Given the description of an element on the screen output the (x, y) to click on. 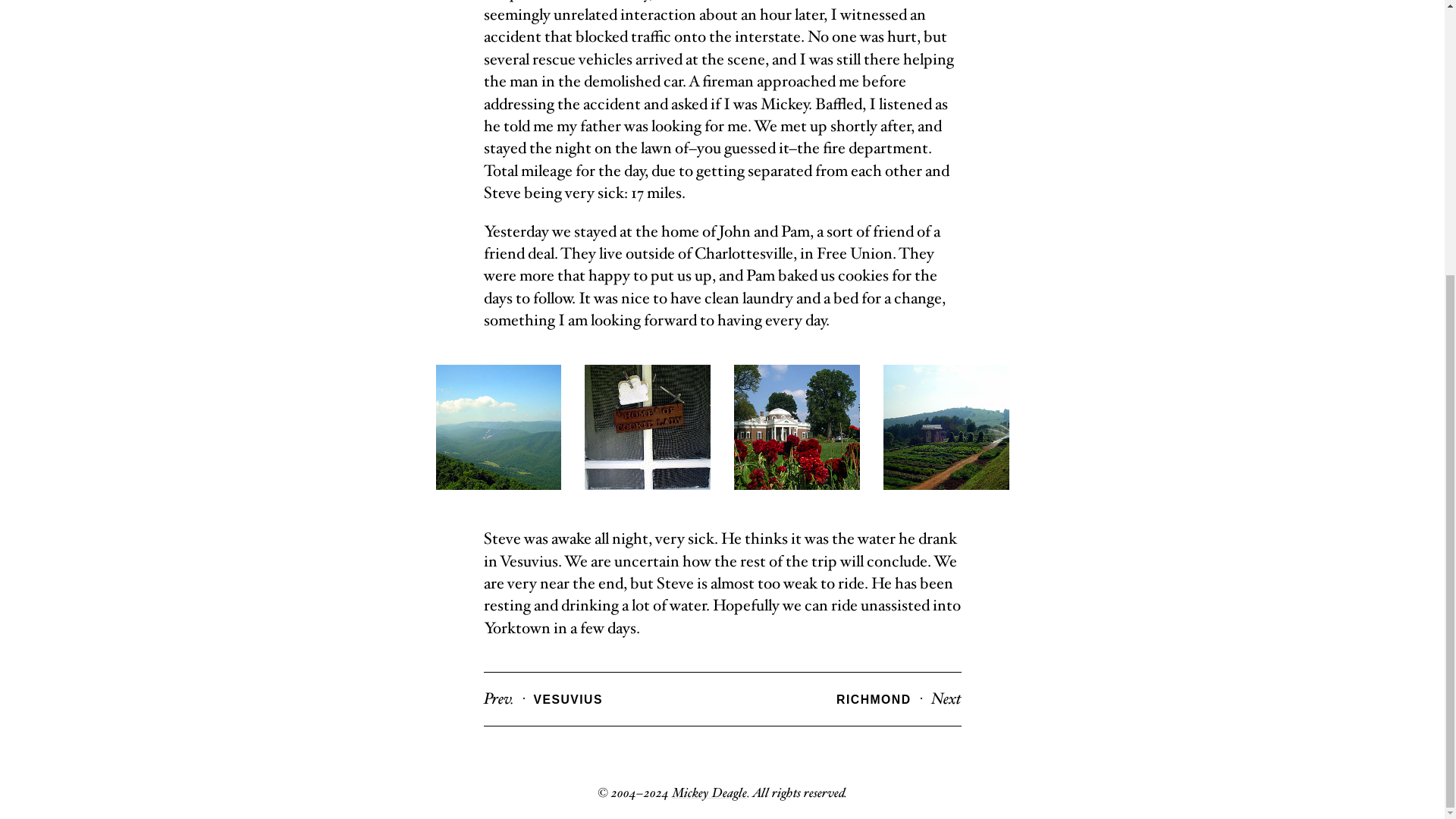
Mickey Deagle (708, 792)
Prev.VESUVIUS (542, 699)
RICHMONDNext (897, 699)
